Given the description of an element on the screen output the (x, y) to click on. 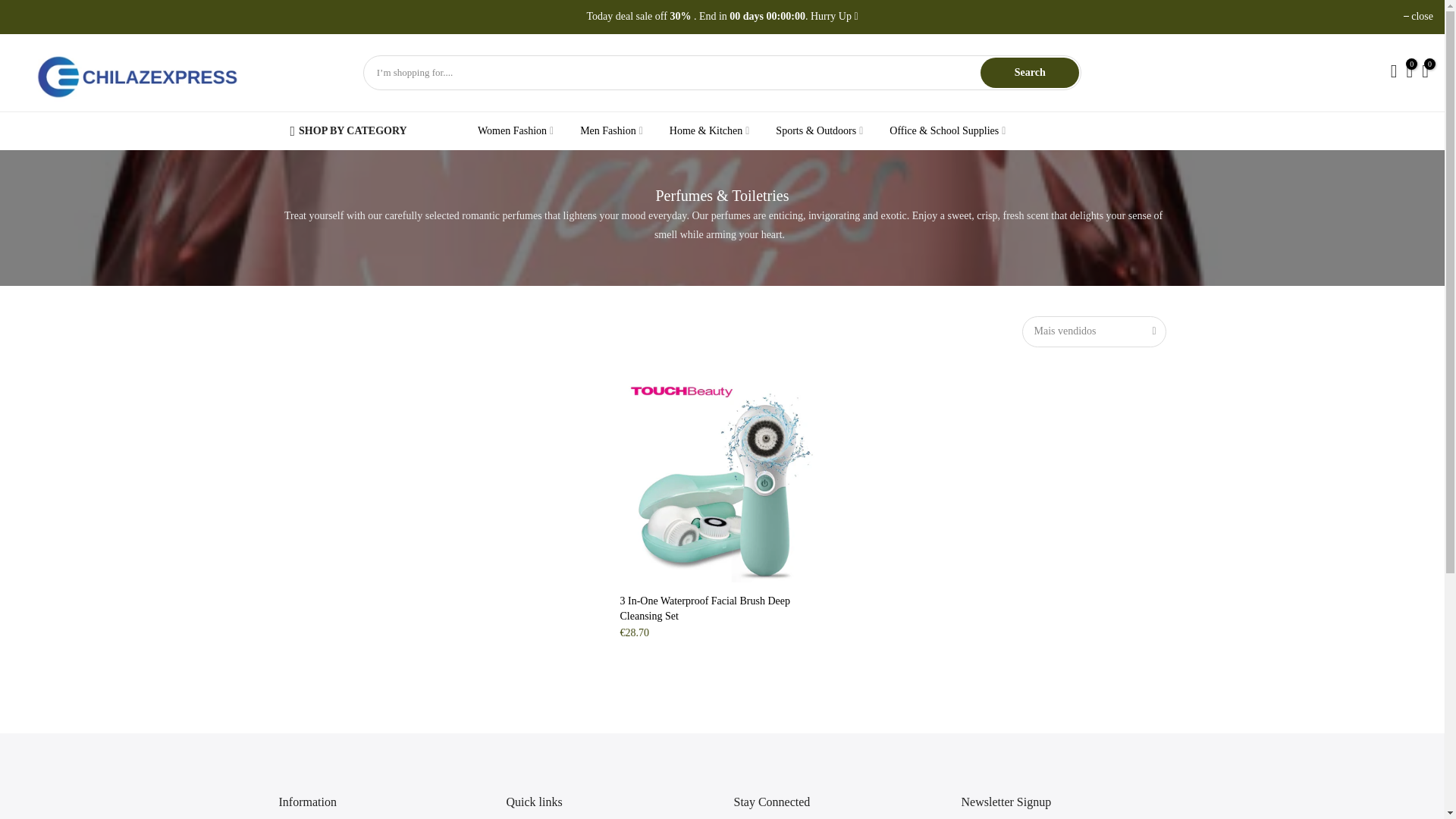
close (1417, 16)
Men Fashion (611, 130)
Mais vendidos (1094, 331)
3 In-One Waterproof Facial Brush Deep Cleansing Set (705, 608)
Search (1028, 72)
Women Fashion (515, 130)
